Given the description of an element on the screen output the (x, y) to click on. 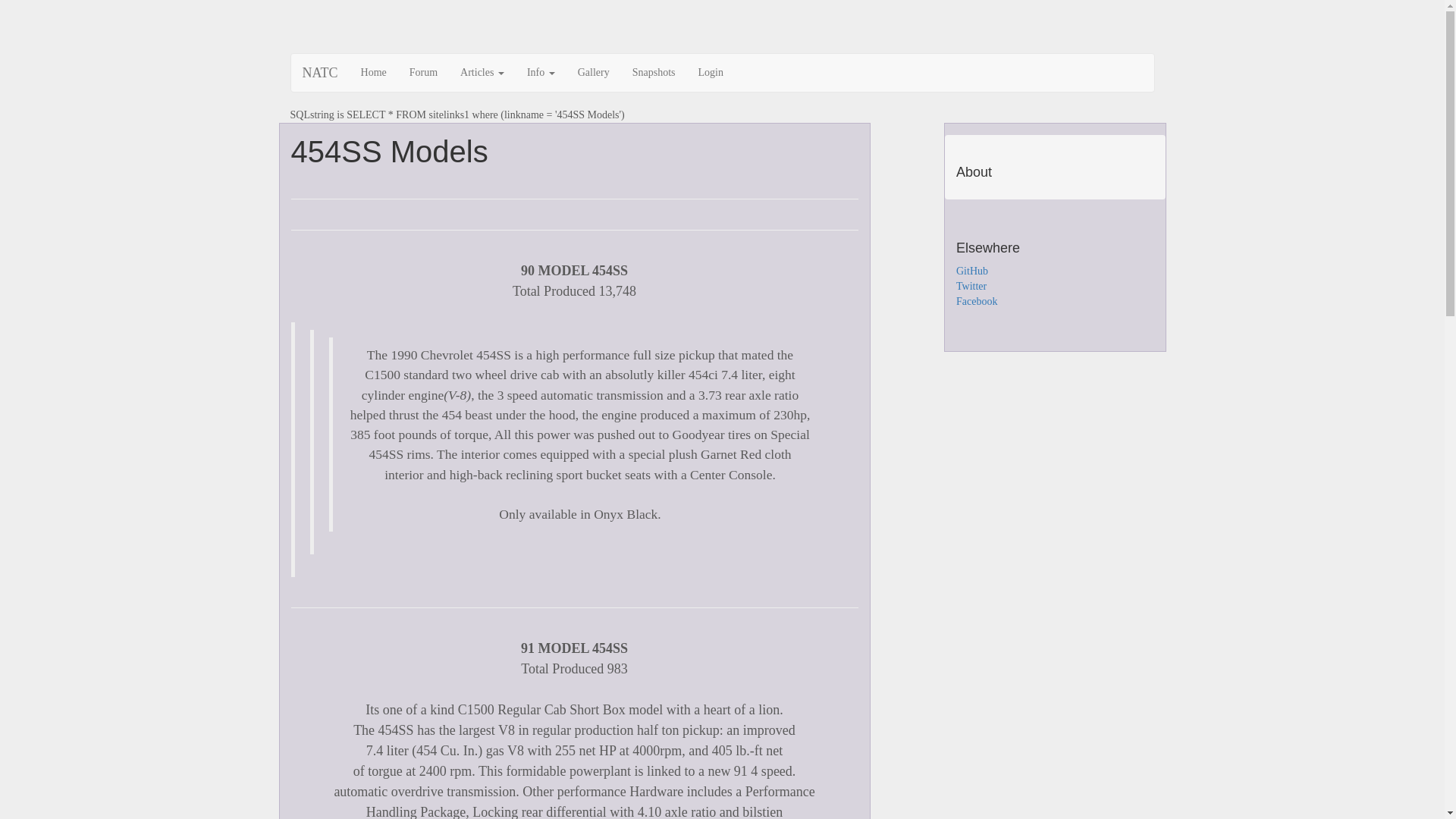
NATC Element type: text (320, 72)
Snapshots Element type: text (654, 72)
Articles Element type: text (481, 72)
Info Element type: text (540, 72)
Gallery Element type: text (593, 72)
Forum Element type: text (423, 72)
Twitter Element type: text (971, 285)
Home Element type: text (373, 72)
GitHub Element type: text (972, 270)
Facebook Element type: text (976, 301)
Login Element type: text (710, 72)
